Given the description of an element on the screen output the (x, y) to click on. 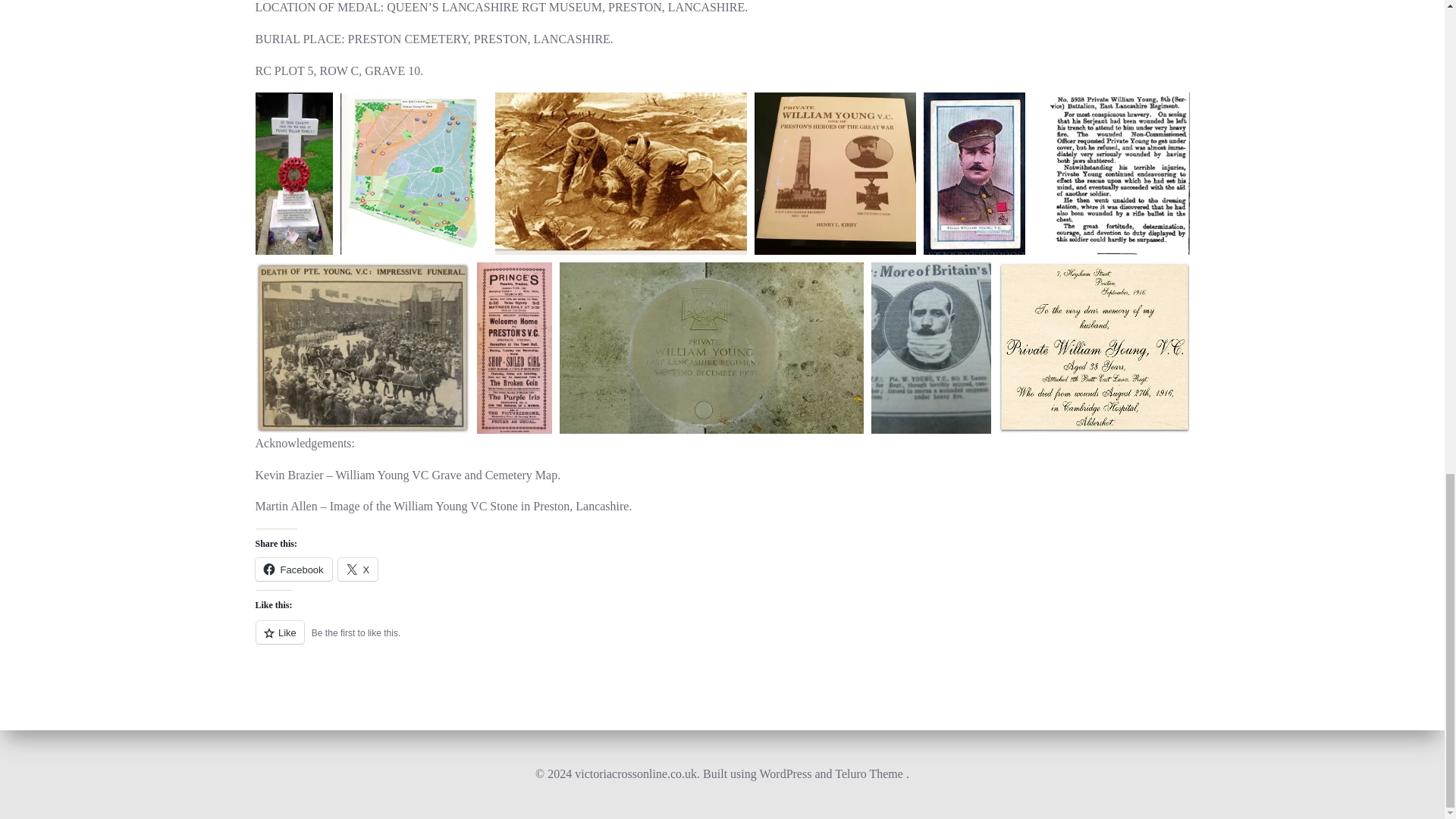
Facebook (292, 568)
Click to share on X (357, 568)
Click to share on Facebook (292, 568)
X (357, 568)
Like or Reblog (721, 640)
